Given the description of an element on the screen output the (x, y) to click on. 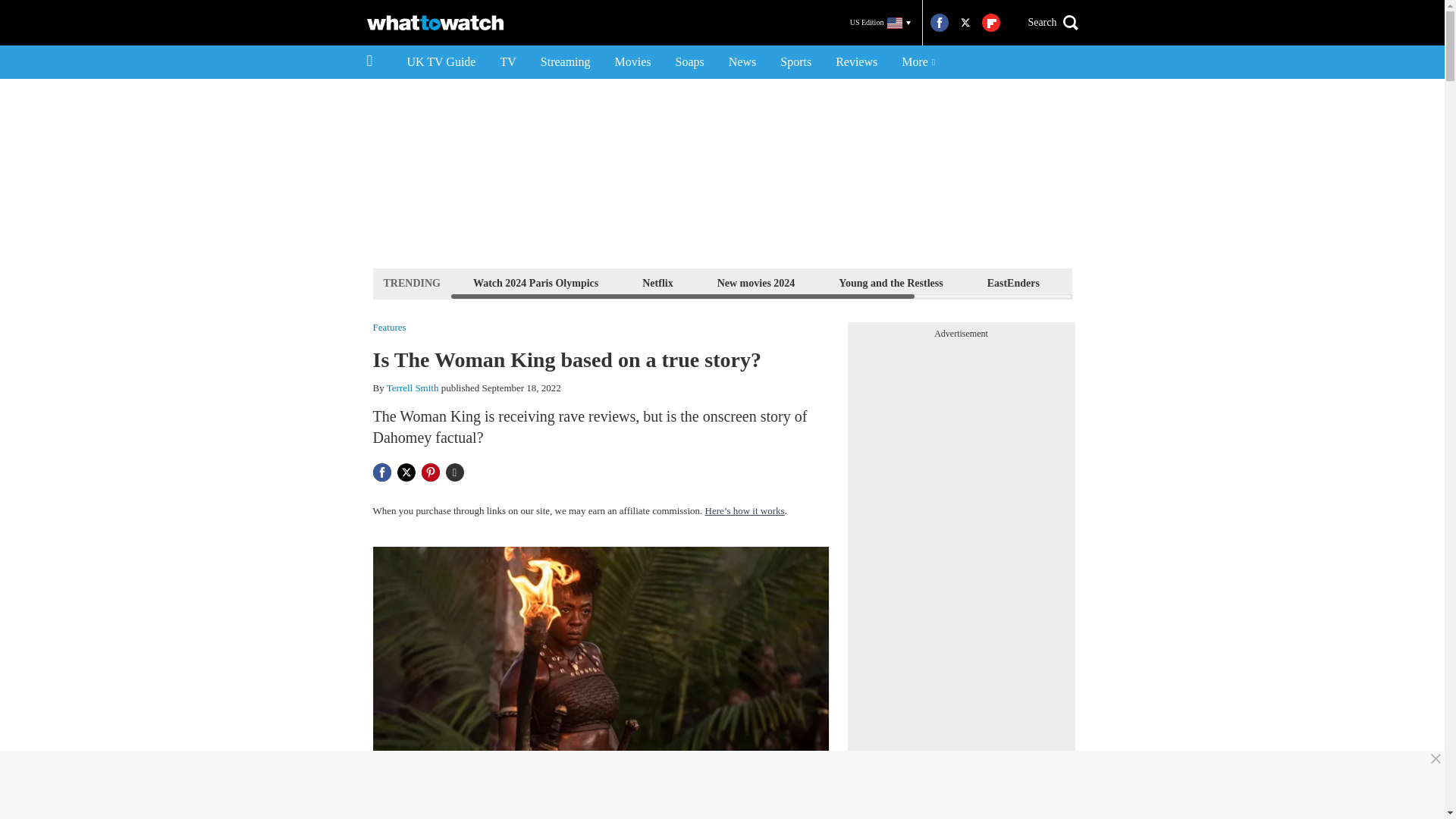
Coronation Street (1220, 282)
Netflix (657, 282)
Movies (632, 61)
EastEnders (1013, 282)
US Edition (880, 22)
Soaps (689, 61)
Young and the Restless (889, 282)
Reviews (856, 61)
Features (389, 327)
UK TV Guide (440, 61)
Sports (796, 61)
TV (507, 61)
Streaming (565, 61)
